Given the description of an element on the screen output the (x, y) to click on. 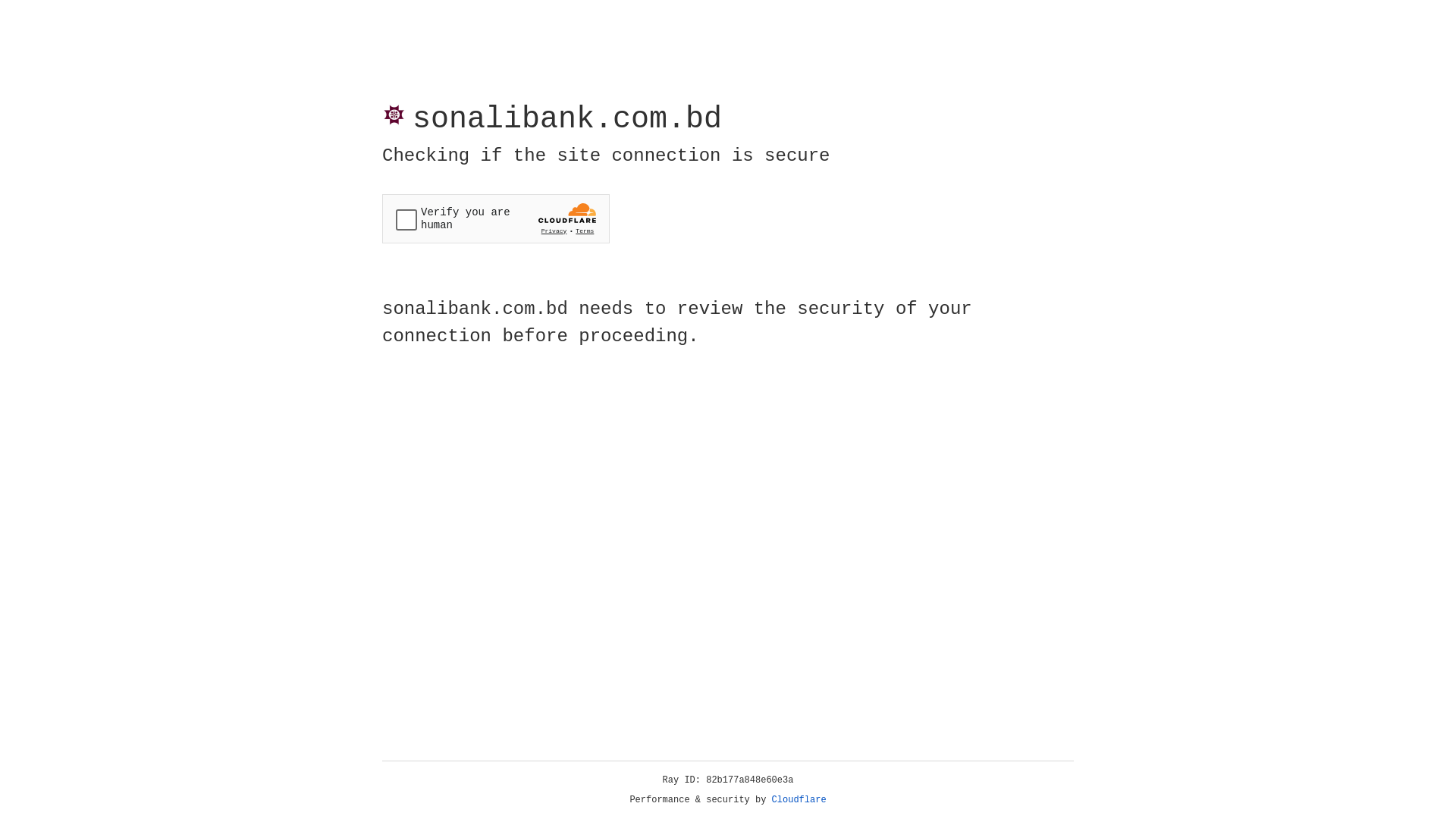
Cloudflare Element type: text (798, 799)
Widget containing a Cloudflare security challenge Element type: hover (495, 218)
